Given the description of an element on the screen output the (x, y) to click on. 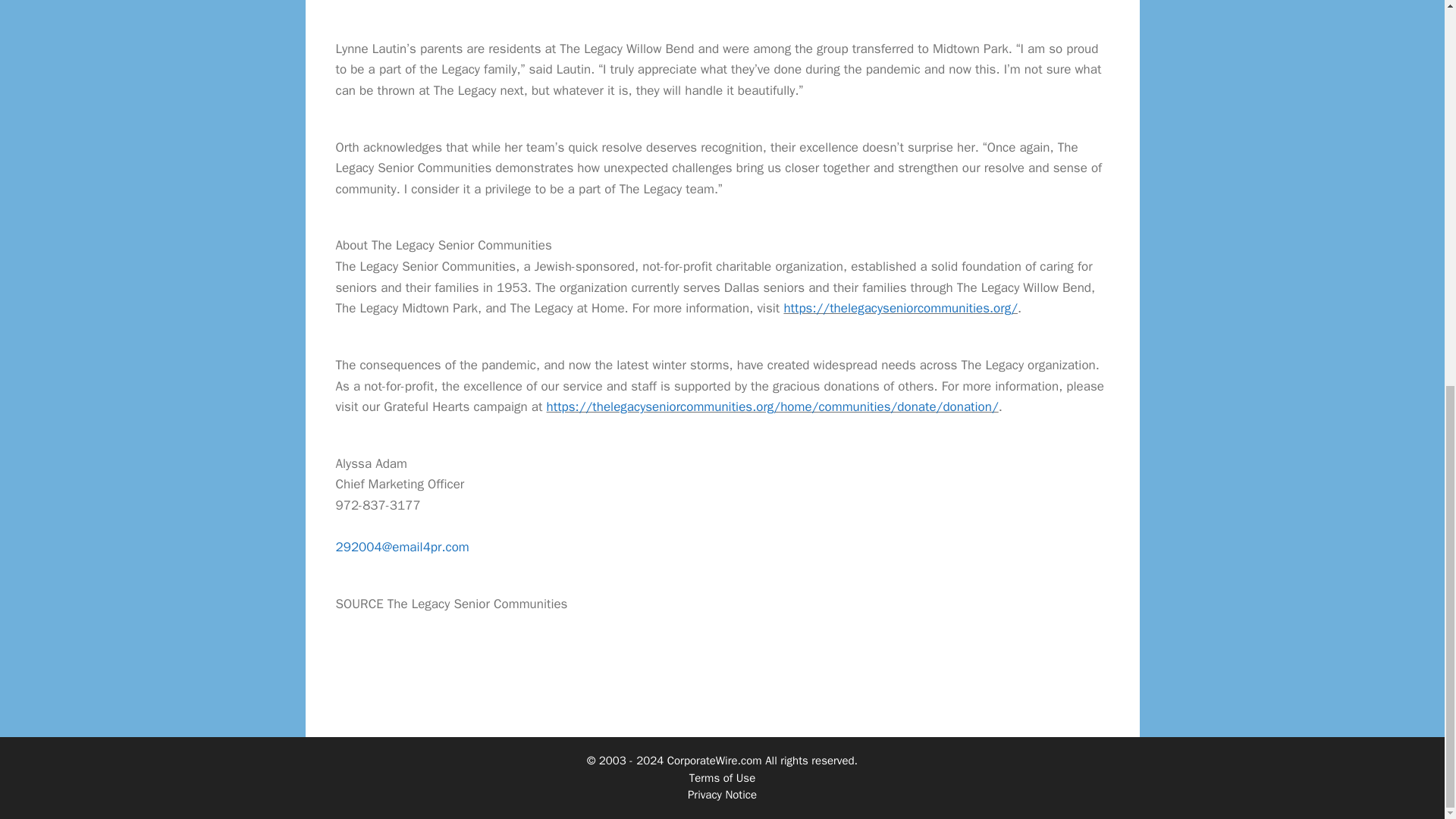
Terms of Use (721, 777)
Privacy Notice (722, 794)
